Given the description of an element on the screen output the (x, y) to click on. 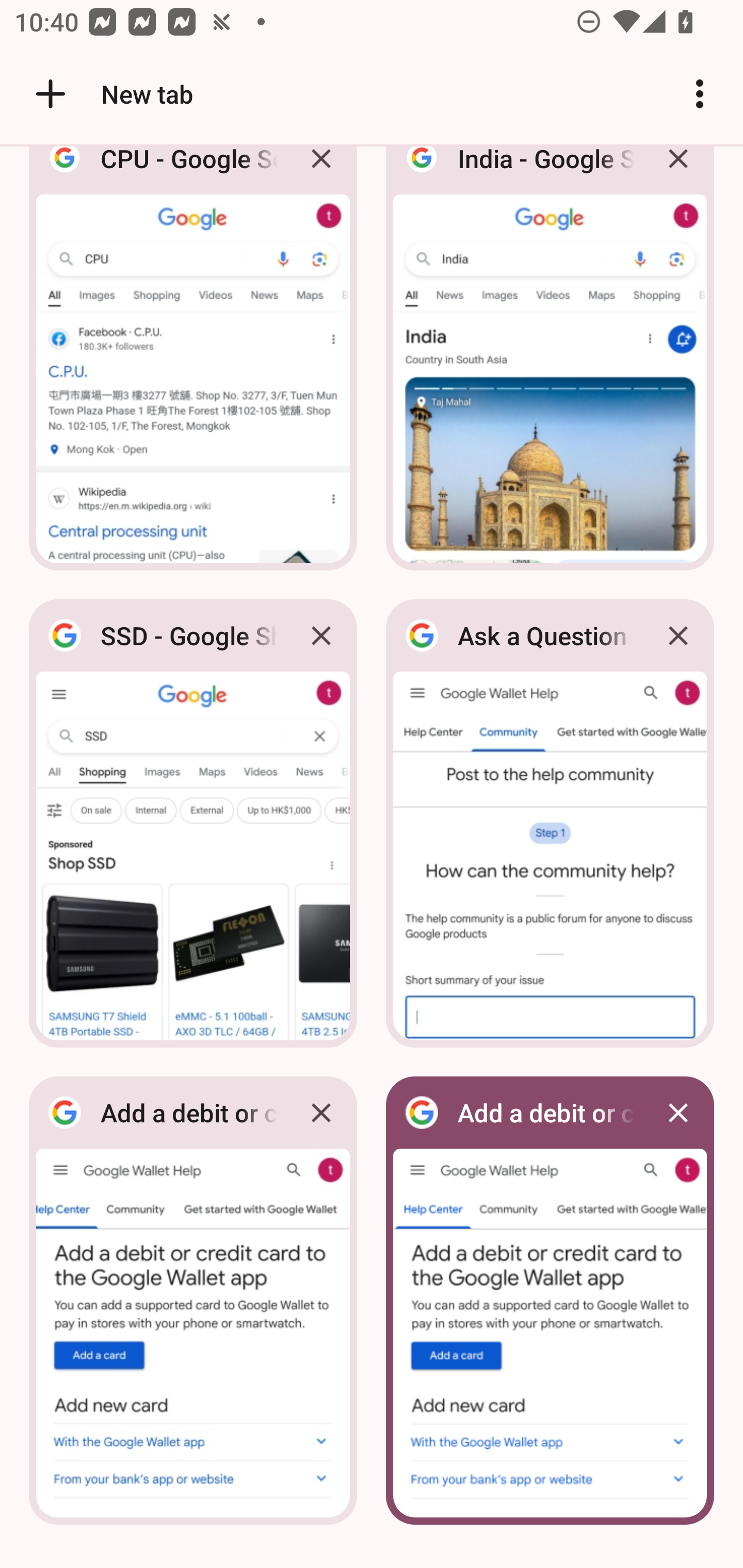
New tab (111, 93)
Customize and control Google Chrome (699, 93)
Close CPU - Google Search tab (320, 173)
Close India - Google Search tab (677, 173)
Close SSD - Google Shopping tab (320, 635)
Close Ask a Question - Google Wallet Community tab (677, 635)
